Given the description of an element on the screen output the (x, y) to click on. 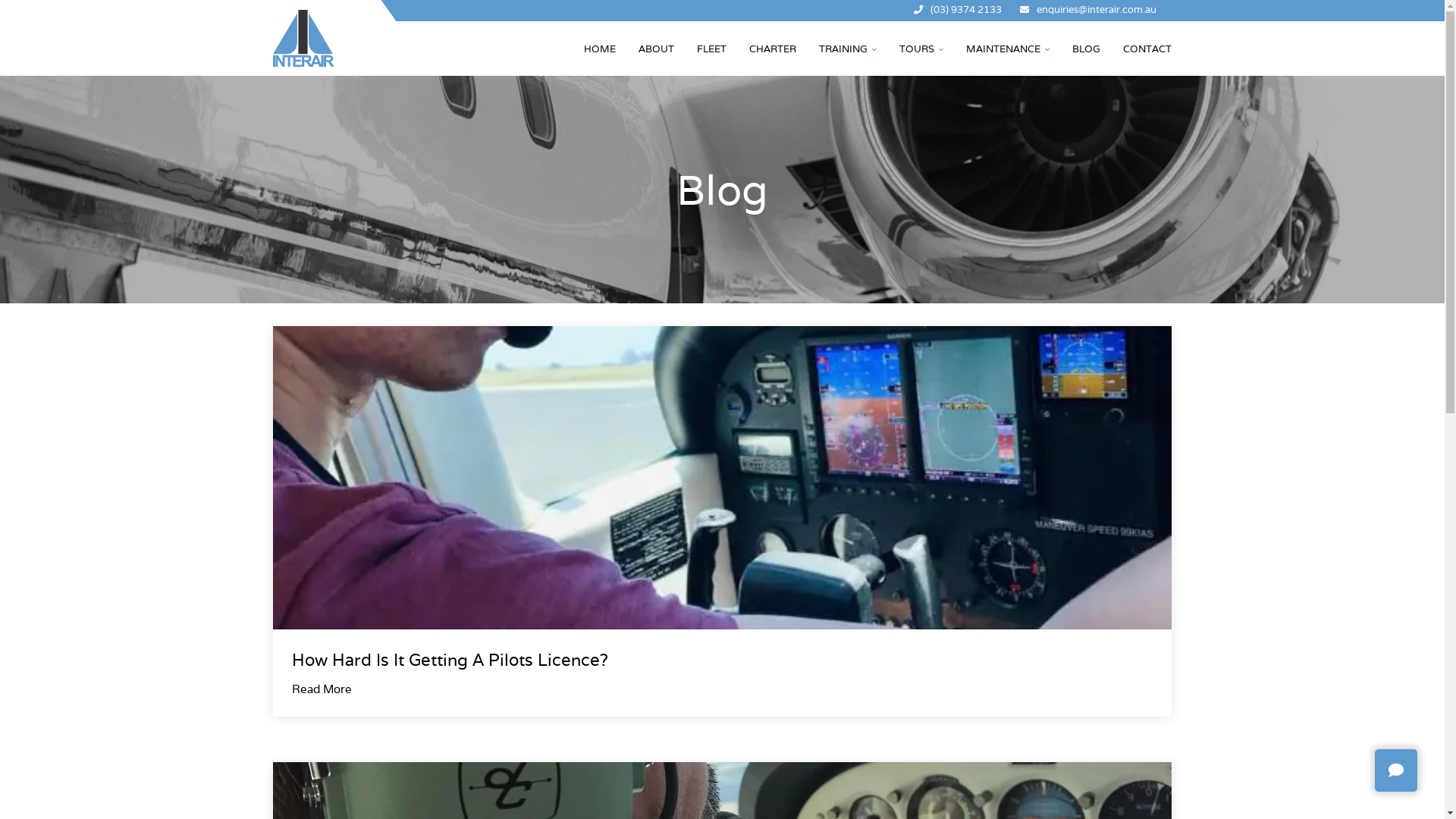
(03) 9374 2133 Element type: text (965, 10)
BLOG Element type: text (1086, 48)
MAINTENANCE Element type: text (1007, 48)
ABOUT Element type: text (656, 48)
CONTACT Element type: text (1147, 48)
HOME Element type: text (599, 48)
enquiries@interair.com.au Element type: text (1096, 10)
How Hard Is It Getting A Pilots Licence?
Read More Element type: text (722, 521)
FLEET Element type: text (711, 48)
TOURS Element type: text (921, 48)
CHARTER Element type: text (772, 48)
TRAINING Element type: text (847, 48)
